Given the description of an element on the screen output the (x, y) to click on. 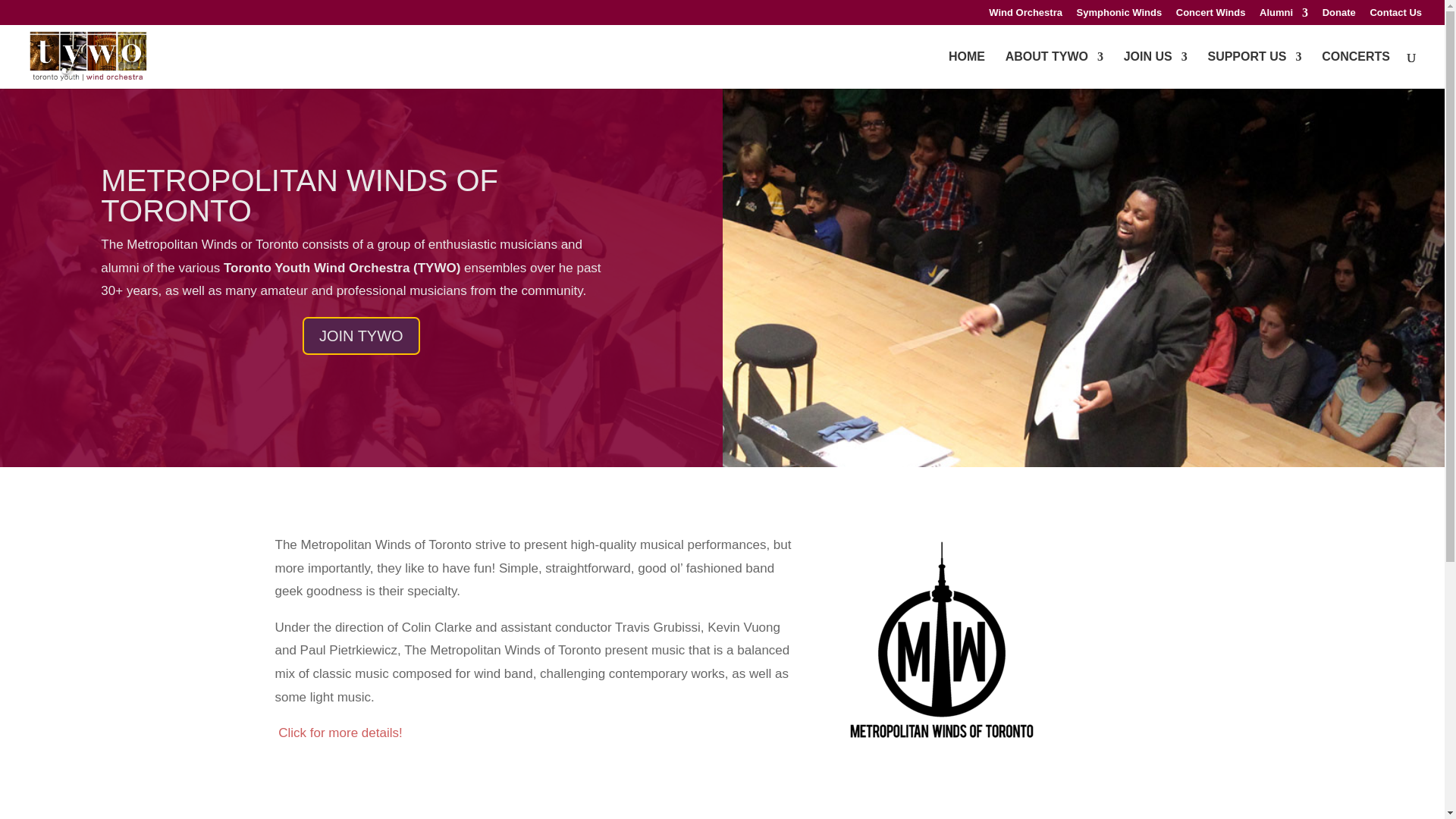
Page 1 (360, 268)
Concert Winds (1211, 16)
Wind Orchestra (1025, 16)
Alumni (1283, 16)
Metro-Logo-Square-Black-300x300-4 (941, 647)
Symphonic Winds (1119, 16)
